Given the description of an element on the screen output the (x, y) to click on. 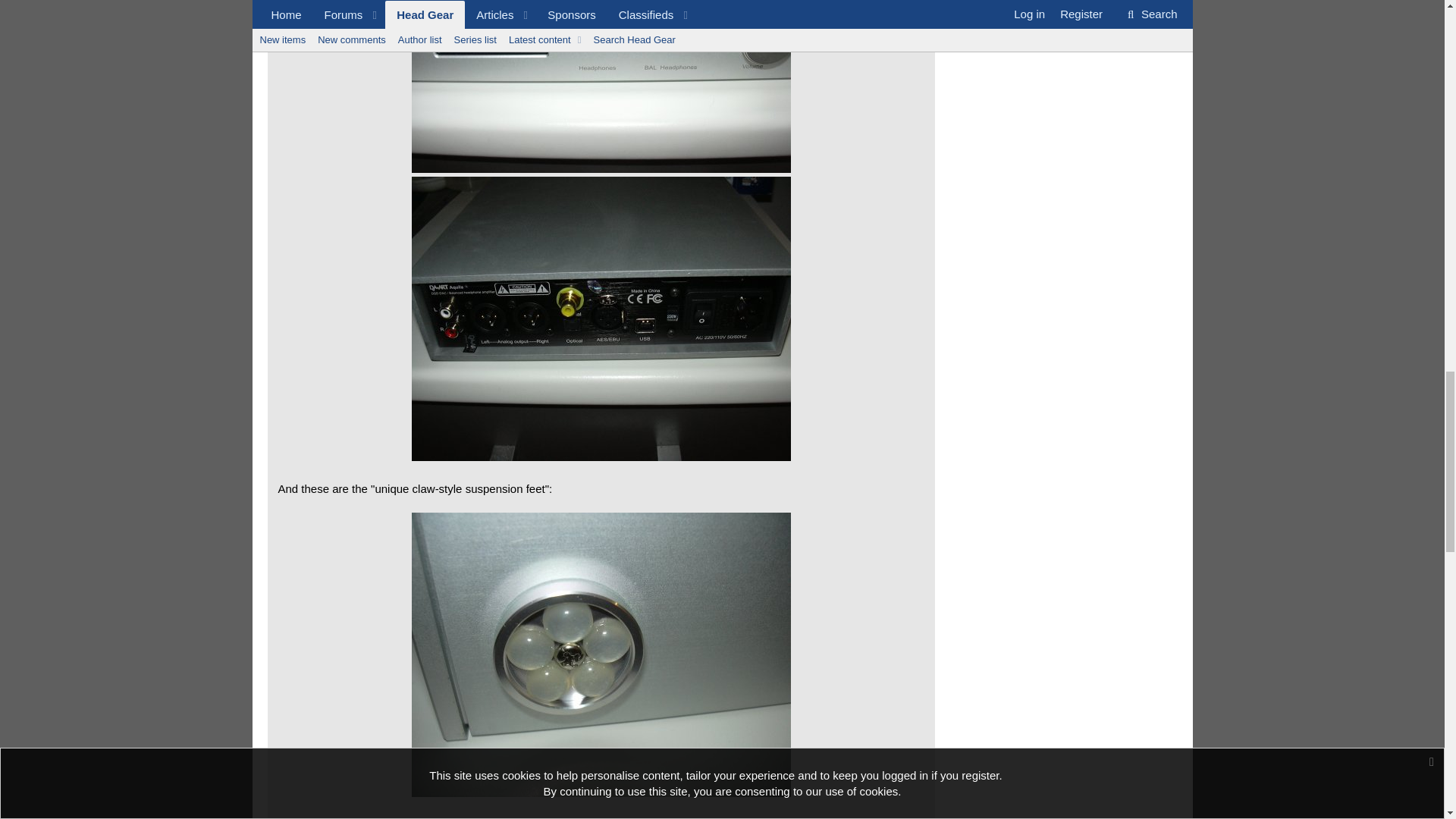
DSCN0143.JPG (600, 318)
DSCN0141.JPG (600, 86)
